Given the description of an element on the screen output the (x, y) to click on. 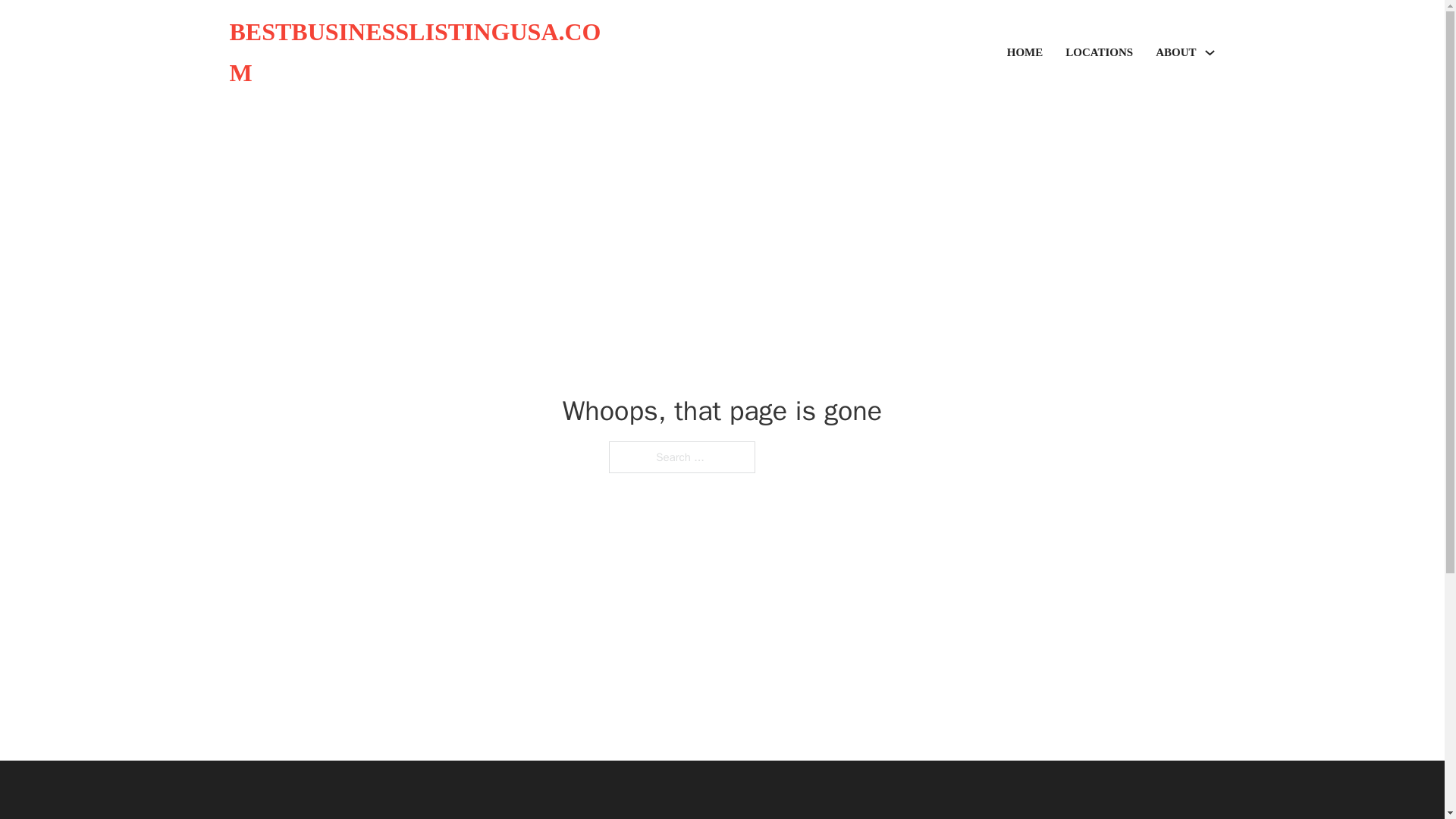
BESTBUSINESSLISTINGUSA.COM (425, 52)
HOME (1025, 53)
LOCATIONS (1098, 53)
